Given the description of an element on the screen output the (x, y) to click on. 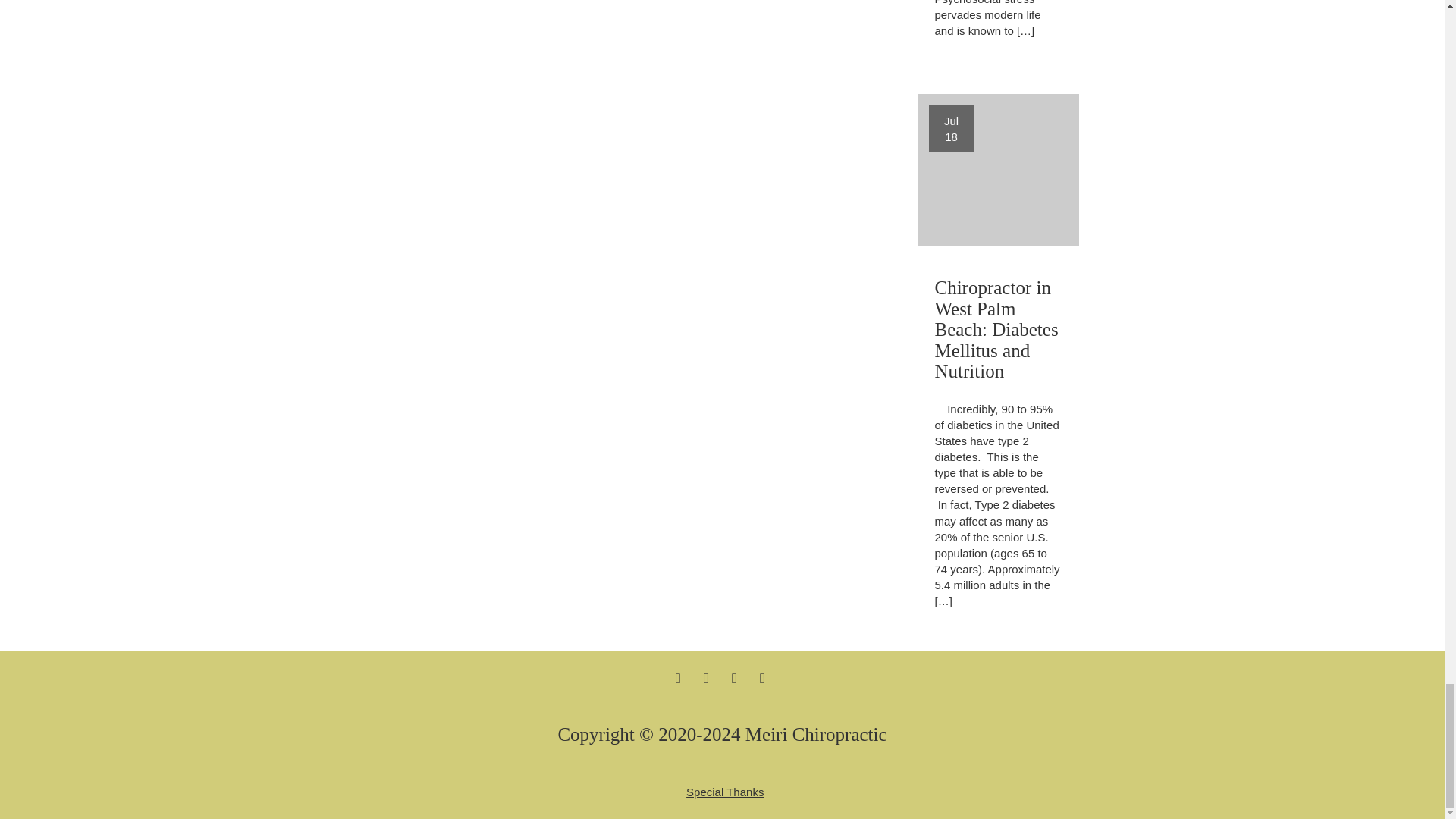
FACEBOOK (678, 677)
Special Thanks (997, 169)
YOUTUBE (723, 791)
PINTEREST (762, 677)
INSTAGRAM (733, 677)
